Given the description of an element on the screen output the (x, y) to click on. 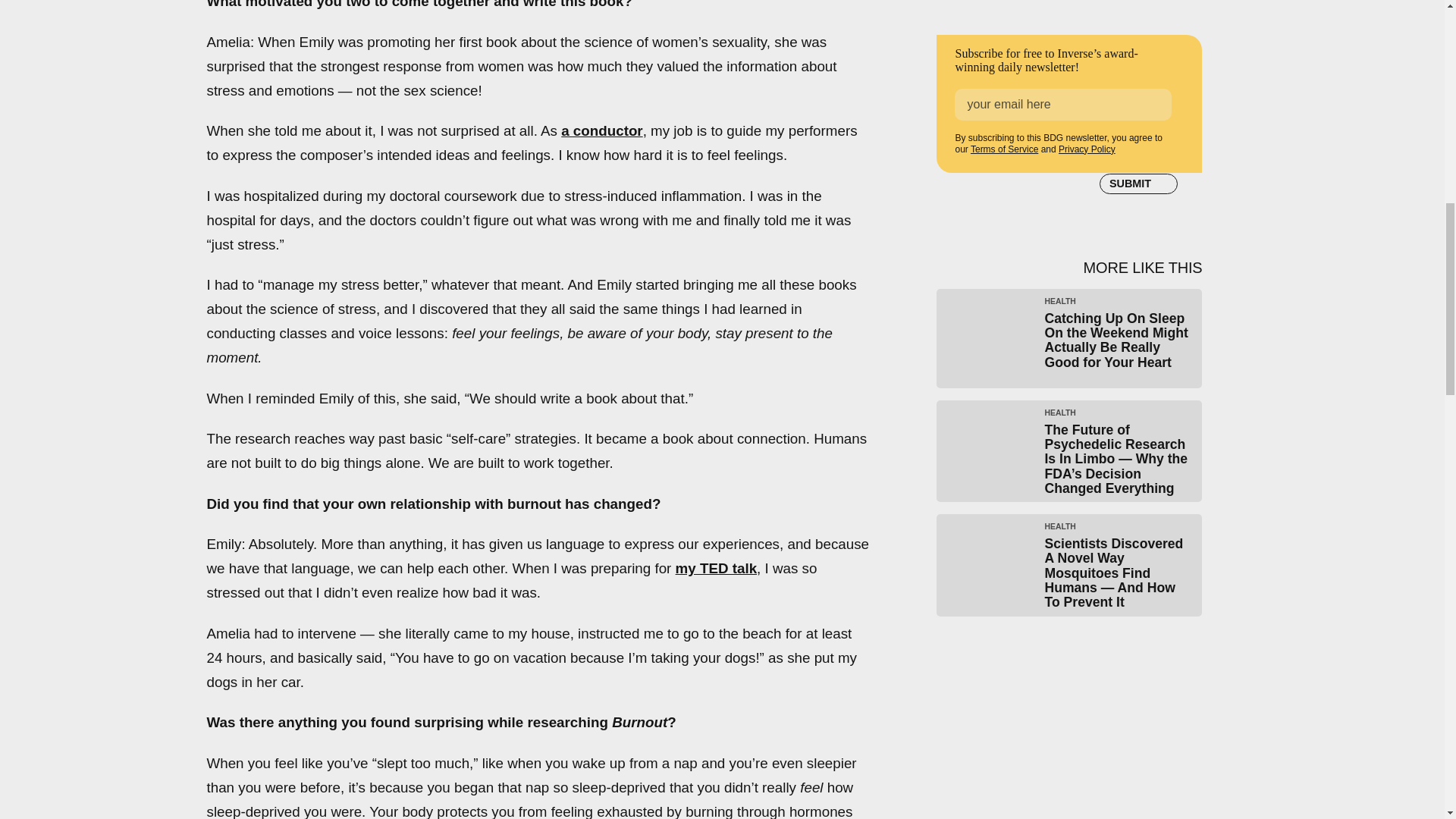
Terms of Service (1004, 149)
a conductor (601, 130)
Privacy Policy (1086, 149)
SUBMIT (1138, 183)
my TED talk (716, 568)
